Given the description of an element on the screen output the (x, y) to click on. 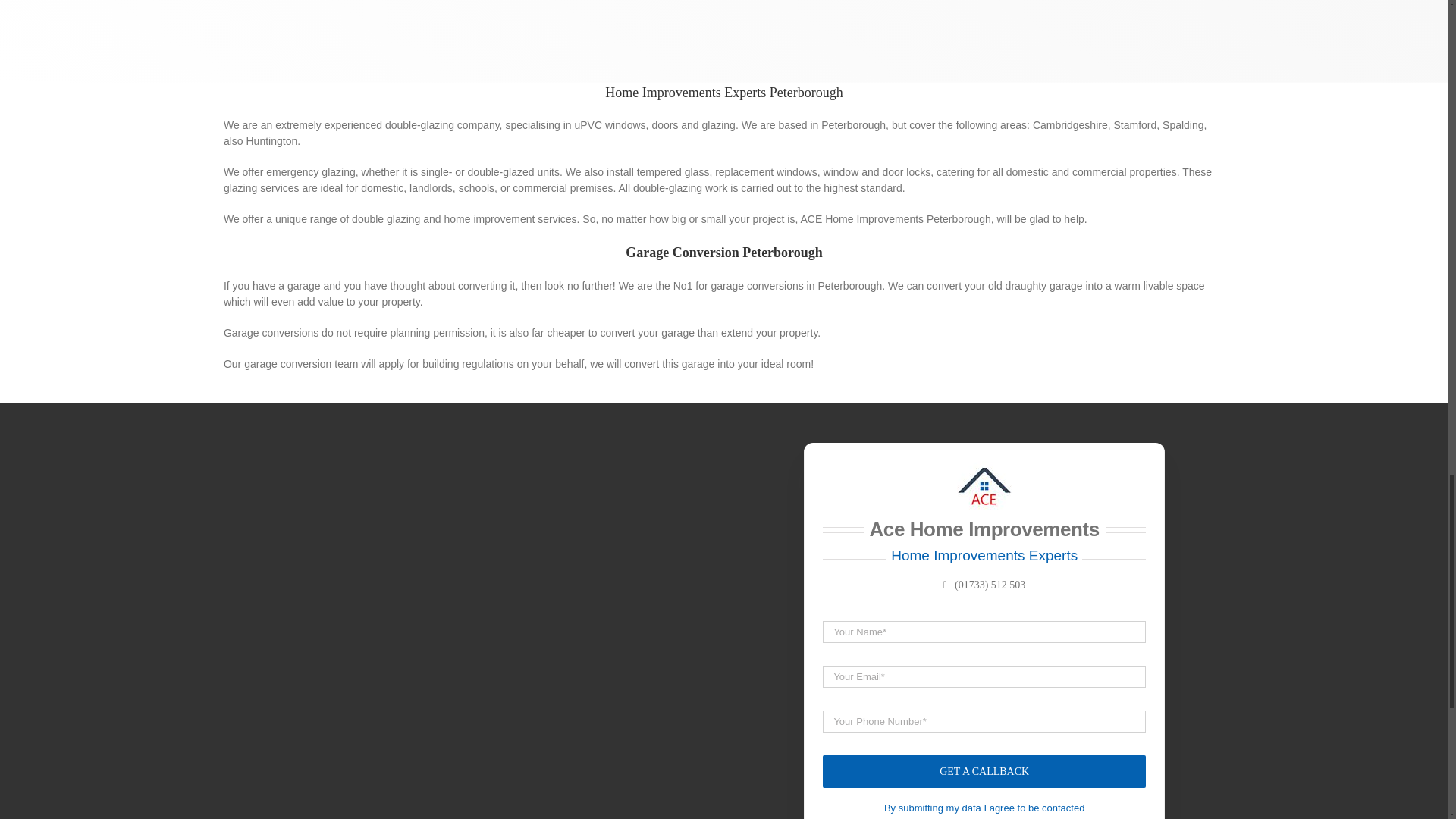
GET A CALLBACK (983, 771)
GET A CALLBACK (983, 704)
